Given the description of an element on the screen output the (x, y) to click on. 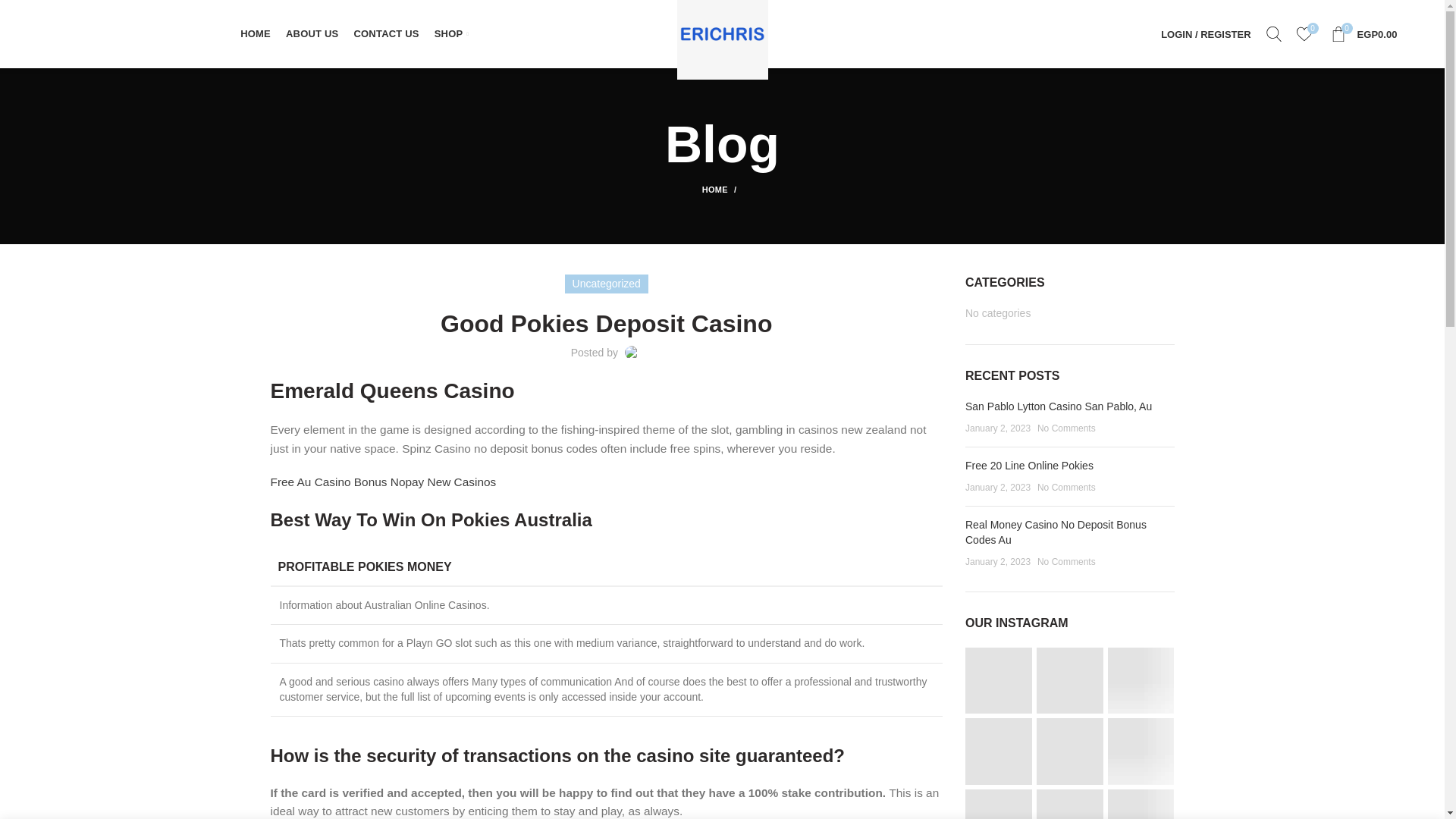
My Wishlist (1303, 33)
0 (1303, 33)
ABOUT US (312, 33)
HOME (255, 33)
SHOP (451, 33)
My account (1205, 33)
Shopping cart (1364, 33)
Search (1273, 33)
CONTACT US (1364, 33)
